Given the description of an element on the screen output the (x, y) to click on. 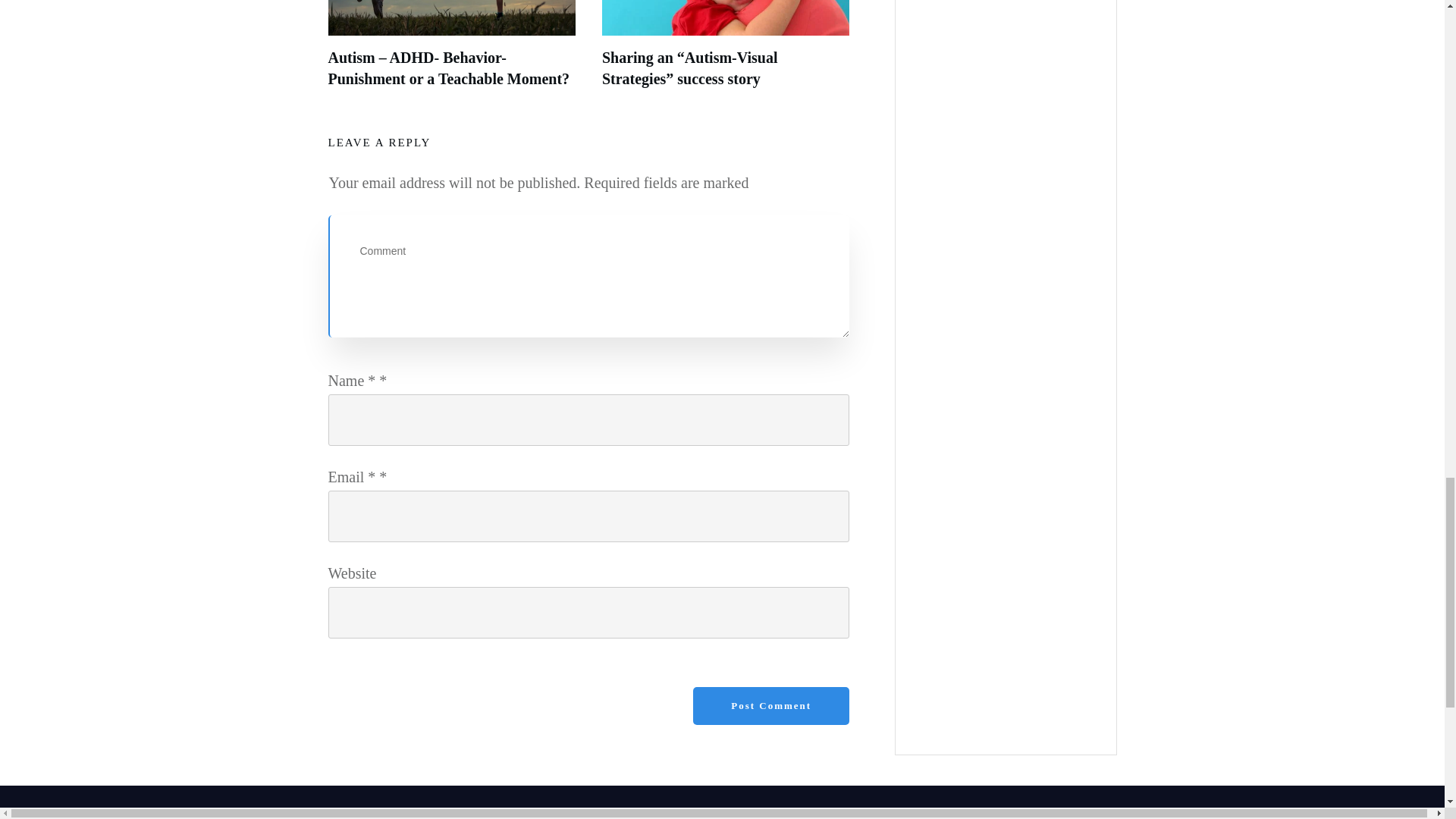
Post Comment (770, 705)
